Given the description of an element on the screen output the (x, y) to click on. 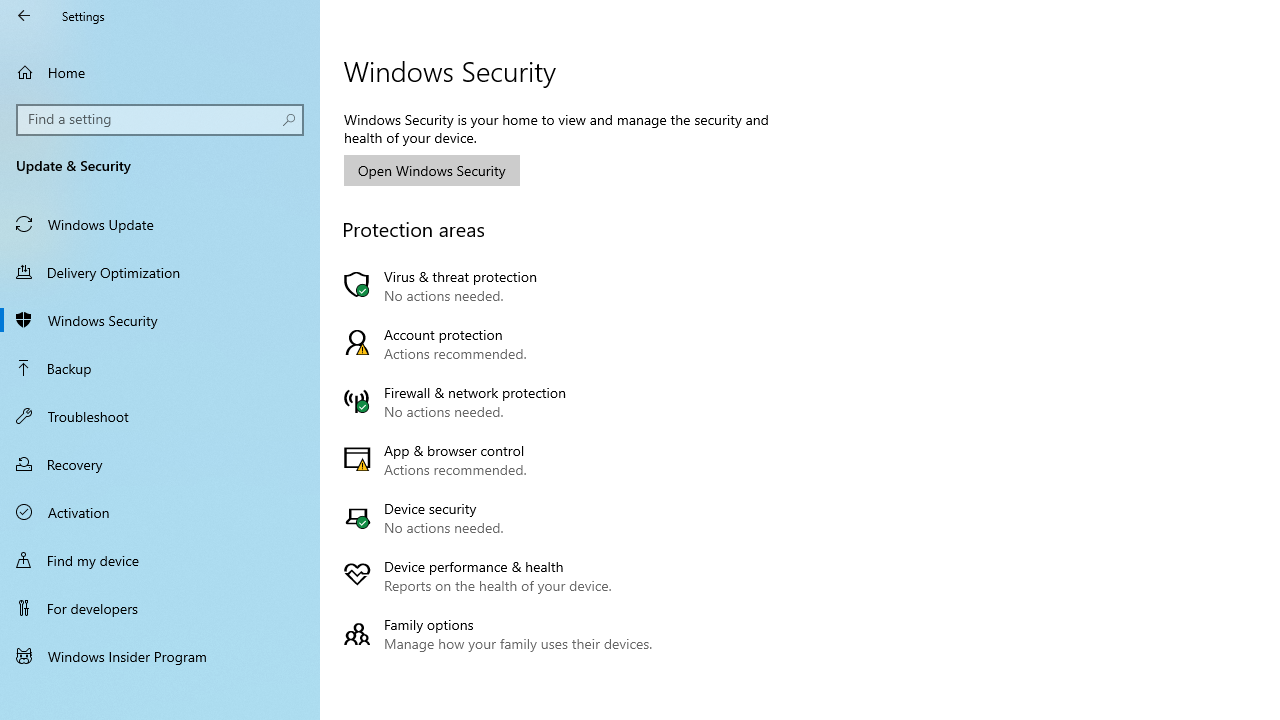
Family options (502, 633)
Open Windows Security (431, 169)
Activation (160, 511)
Backup (160, 367)
Troubleshoot (160, 415)
Windows Update (160, 223)
Virus & threat protection No actions needed. (502, 286)
Find my device (160, 559)
App & browser control Actions recommended. (502, 459)
Windows Insider Program (160, 655)
Account protection Actions recommended. (502, 343)
For developers (160, 607)
Firewall & network protection No actions needed. (502, 401)
